Given the description of an element on the screen output the (x, y) to click on. 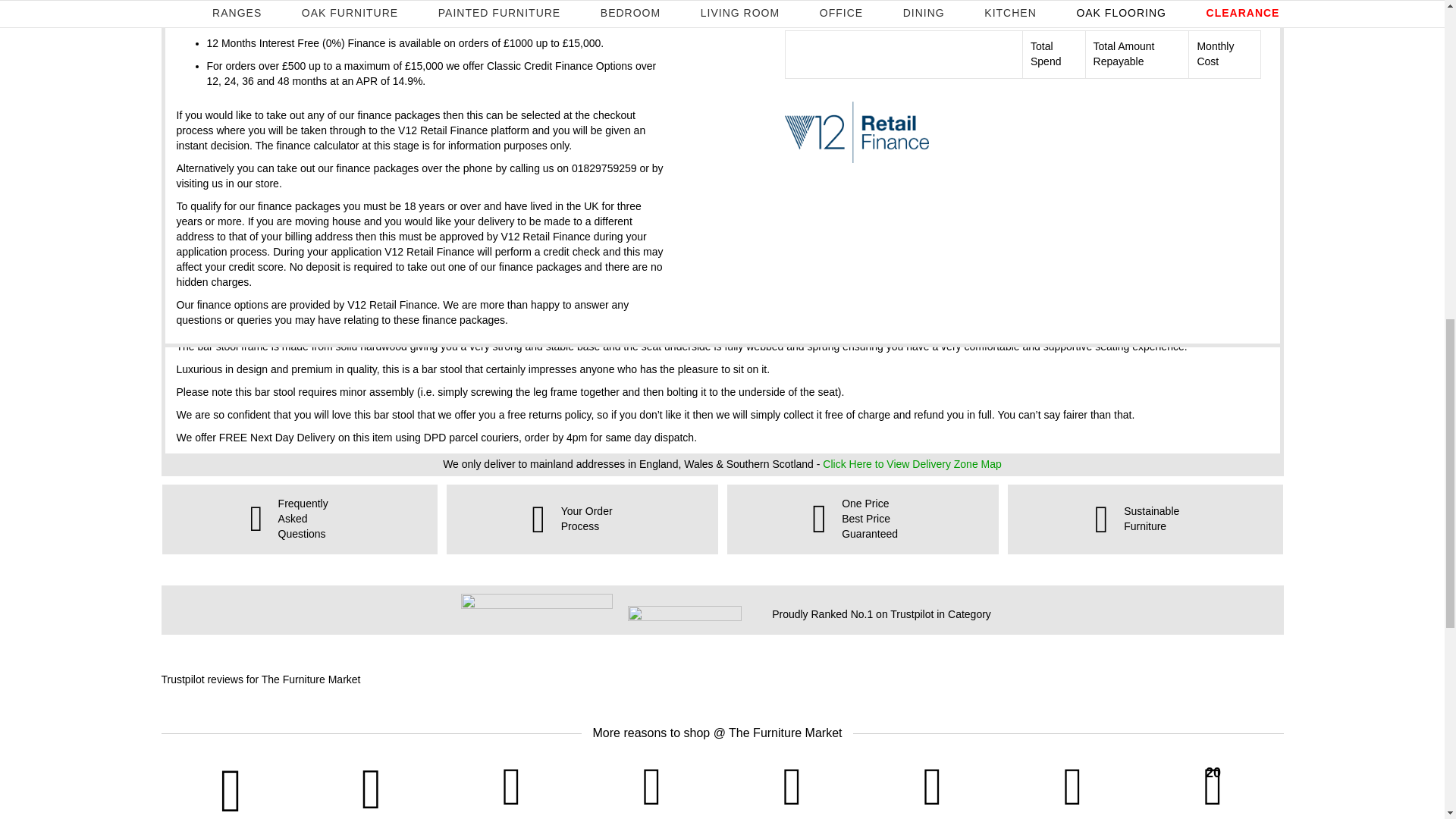
total (961, 9)
500 (917, 11)
monthly (1000, 9)
